Given the description of an element on the screen output the (x, y) to click on. 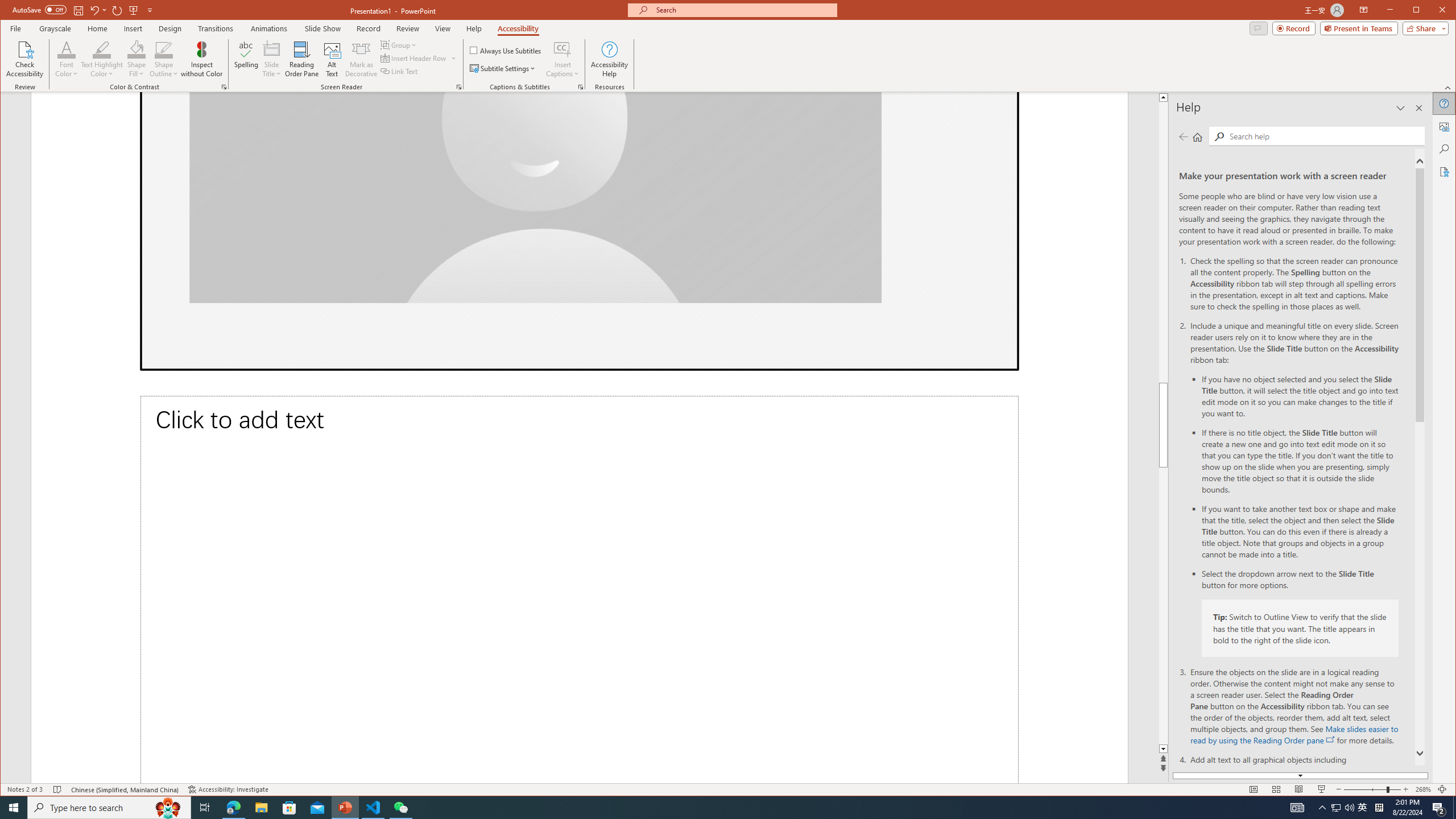
Slide Title (271, 48)
Insert Header Row (418, 57)
Always Use Subtitles (505, 49)
Color & Contrast (223, 86)
